Given the description of an element on the screen output the (x, y) to click on. 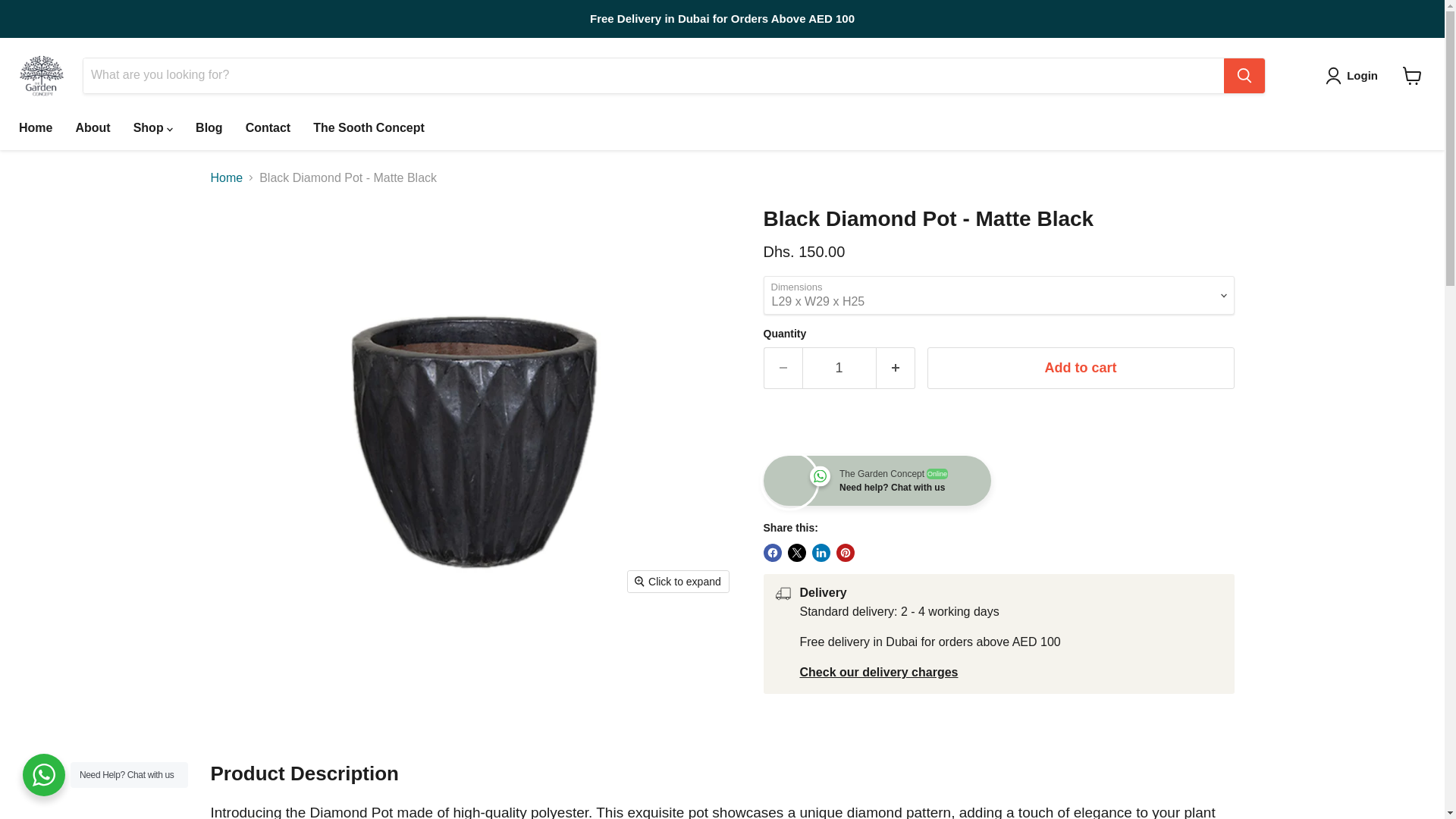
Home (35, 128)
Shipping Policy (878, 671)
Blog (209, 128)
The Sooth Concept (368, 128)
1 (839, 368)
Login (1354, 75)
Contact (268, 128)
View cart (1411, 75)
About (92, 128)
